Given the description of an element on the screen output the (x, y) to click on. 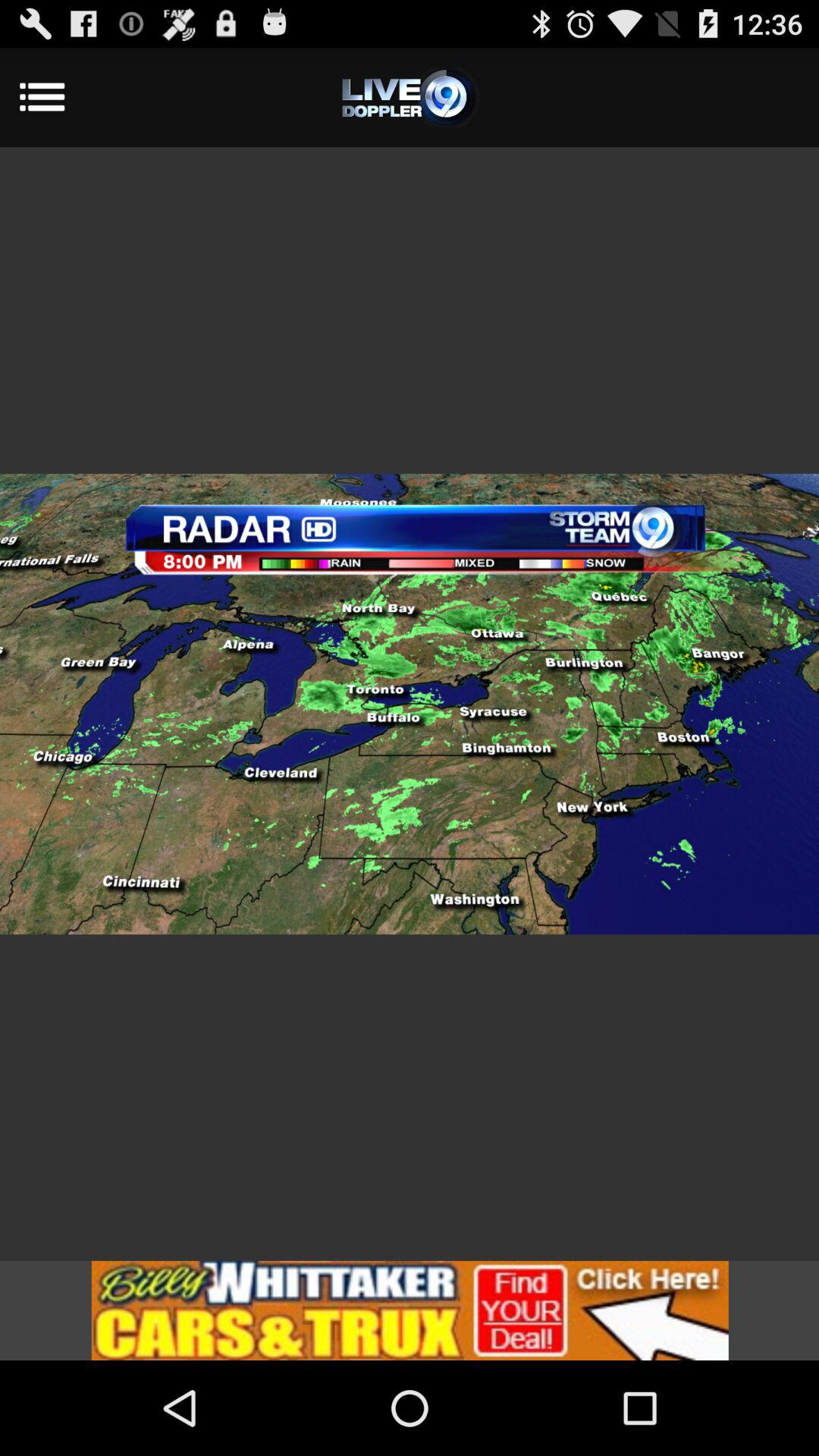
open advertisement banner (409, 1310)
